Given the description of an element on the screen output the (x, y) to click on. 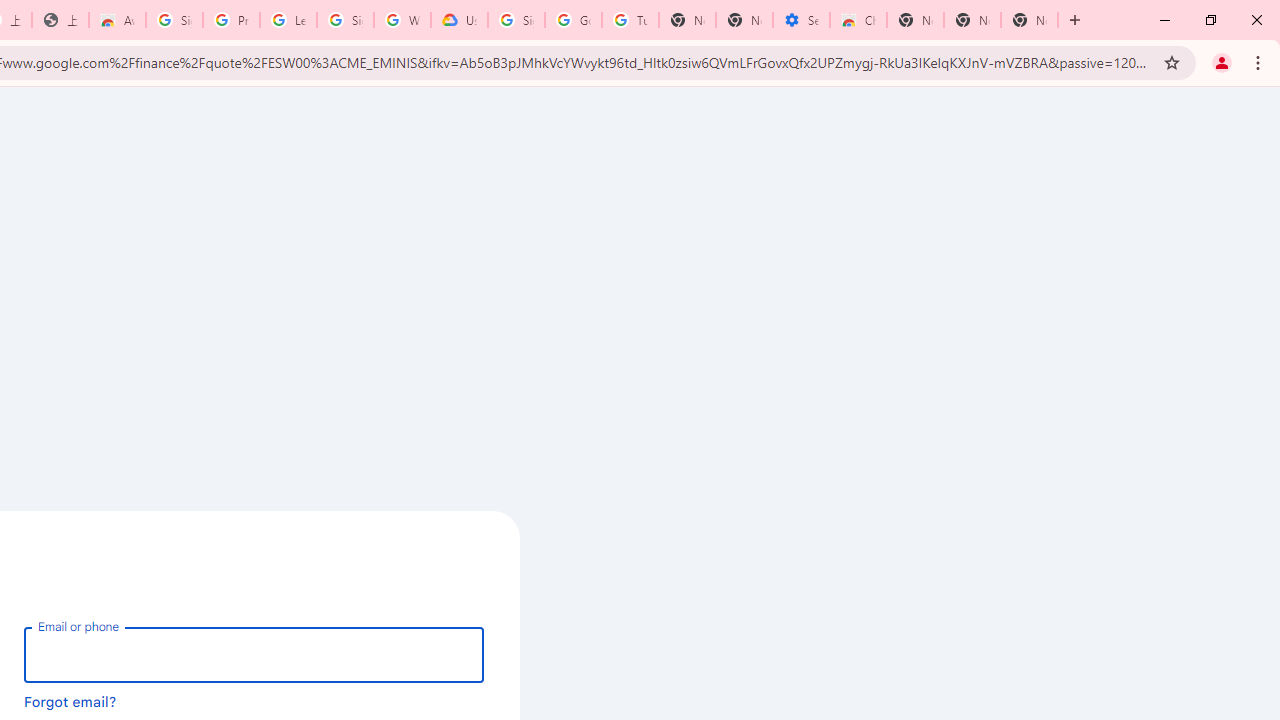
Chrome Web Store - Accessibility extensions (858, 20)
Settings - Accessibility (801, 20)
Sign in - Google Accounts (516, 20)
Turn cookies on or off - Computer - Google Account Help (630, 20)
Awesome Screen Recorder & Screenshot - Chrome Web Store (116, 20)
Sign in - Google Accounts (174, 20)
New Tab (915, 20)
Forgot email? (70, 701)
